Given the description of an element on the screen output the (x, y) to click on. 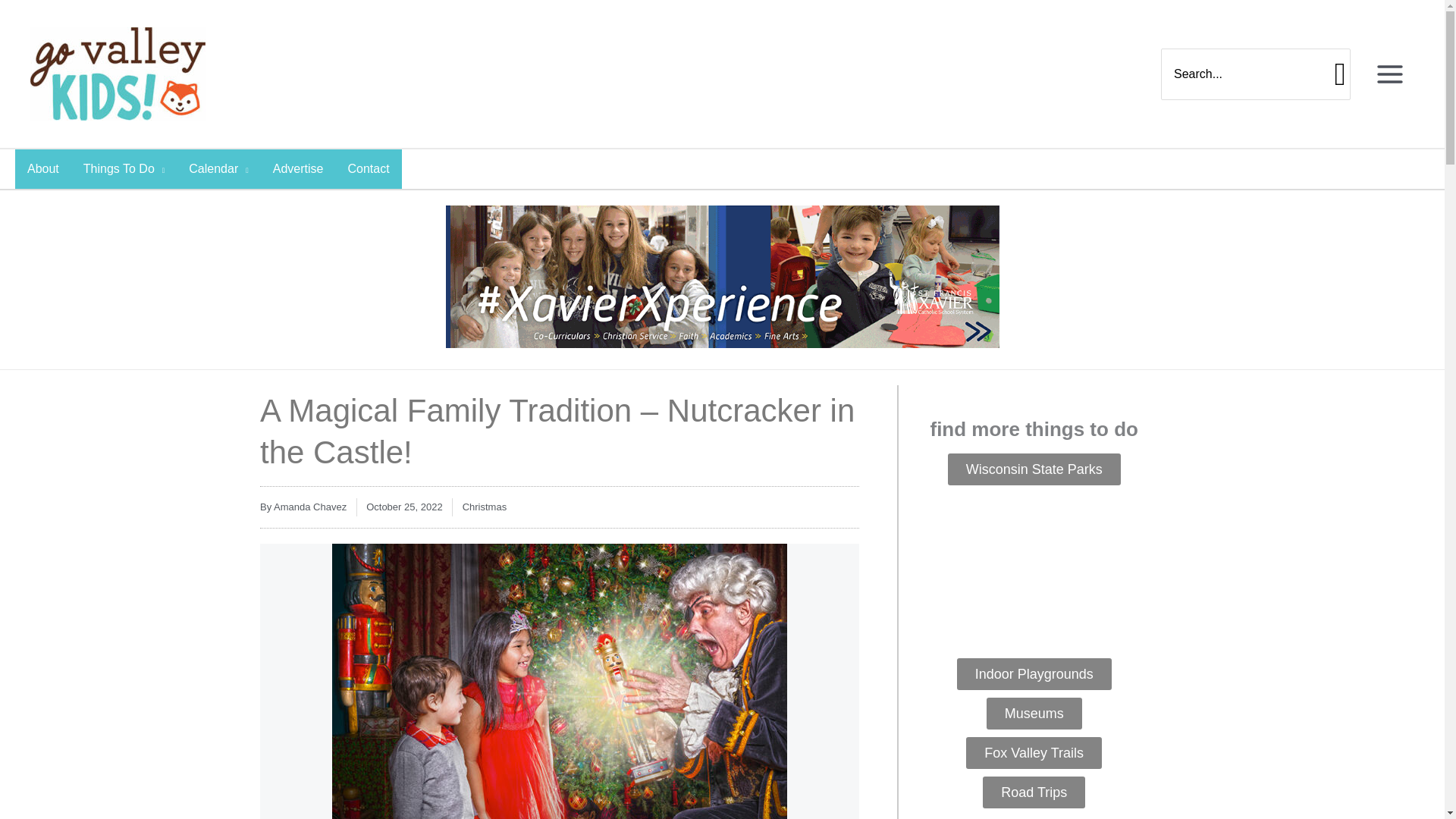
October 25, 2022 (404, 506)
Things To Do (124, 169)
By Amanda Chavez (303, 506)
Advertise (298, 169)
Calendar (218, 169)
Contact (367, 169)
About (42, 169)
Christmas (484, 506)
